Given the description of an element on the screen output the (x, y) to click on. 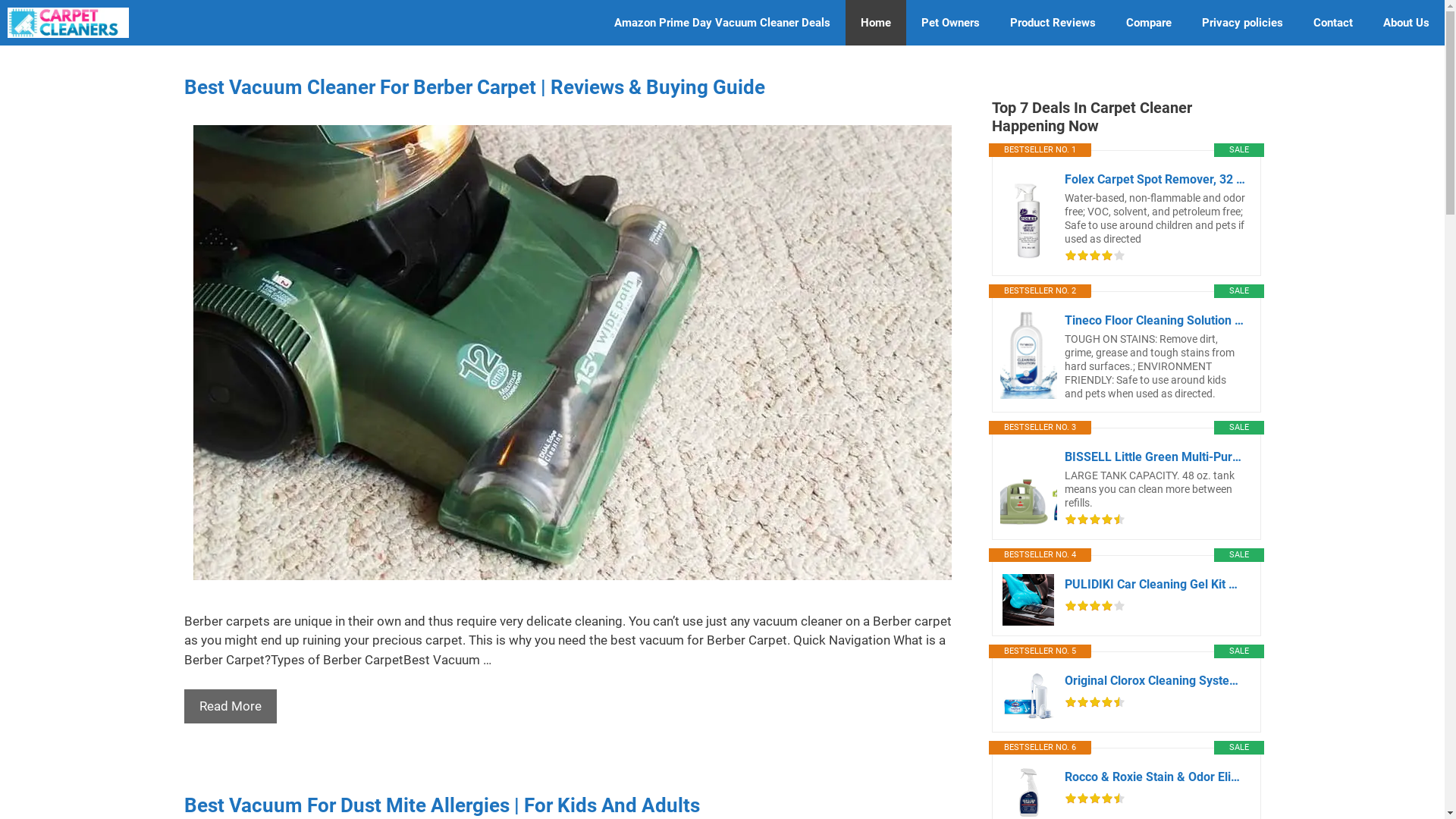
Folex Carpet Spot Remover, 32 oz Element type: text (1154, 179)
Best Vacuum For Dust Mite Allergies | For Kids And Adults Element type: text (441, 804)
Home Element type: text (875, 22)
Folex Carpet Spot Remover, 32 oz Element type: hover (1027, 216)
Reviews on Amazon Element type: hover (1094, 255)
Skip to content Element type: text (0, 0)
Compare Element type: text (1148, 22)
Reviews on Amazon Element type: hover (1094, 605)
Carpet Cleaners Element type: hover (68, 22)
Reviews on Amazon Element type: hover (1094, 702)
Privacy policies Element type: text (1242, 22)
Product Reviews Element type: text (1052, 22)
Pet Owners Element type: text (950, 22)
Reviews on Amazon Element type: hover (1094, 519)
About Us Element type: text (1406, 22)
Reviews on Amazon Element type: hover (1094, 798)
Amazon Prime Day Vacuum Cleaner Deals Element type: text (722, 22)
Contact Element type: text (1333, 22)
